Given the description of an element on the screen output the (x, y) to click on. 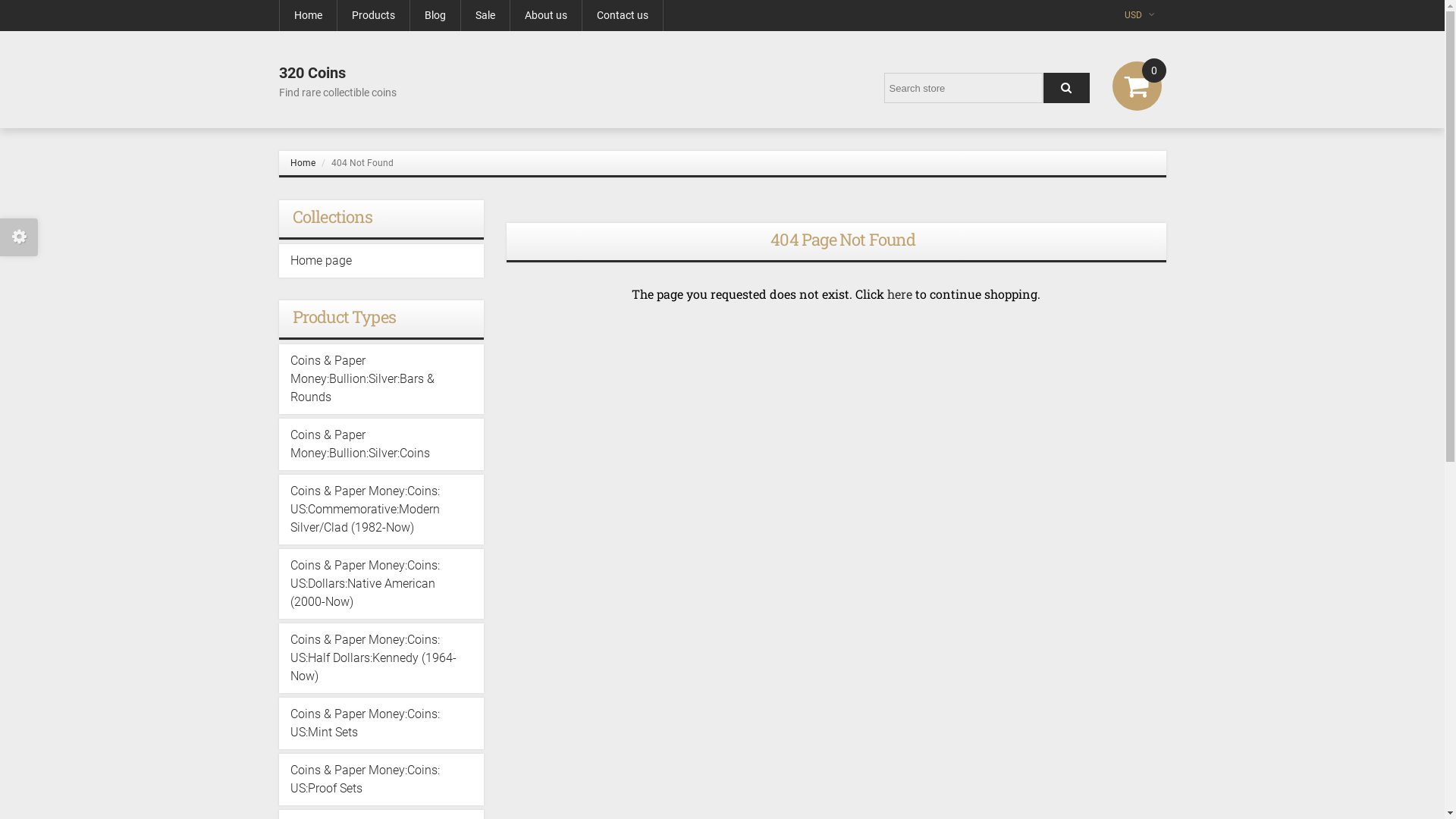
Coins & Paper Money:Coins: US:Proof Sets Element type: text (381, 779)
Coins & Paper Money:Bullion:Silver:Bars & Rounds Element type: text (381, 379)
Contact us Element type: text (622, 15)
Home Element type: text (301, 162)
Home Element type: text (307, 15)
Coins & Paper Money:Coins: US:Mint Sets Element type: text (381, 723)
320 Coins
Find rare collectible coins Element type: text (337, 81)
Products Element type: text (372, 15)
0 Element type: text (1148, 74)
Coins & Paper Money:Bullion:Silver:Coins Element type: text (381, 444)
Sale Element type: text (485, 15)
About us Element type: text (544, 15)
Home page Element type: text (381, 260)
here Element type: text (899, 293)
Blog Element type: text (434, 15)
